Given the description of an element on the screen output the (x, y) to click on. 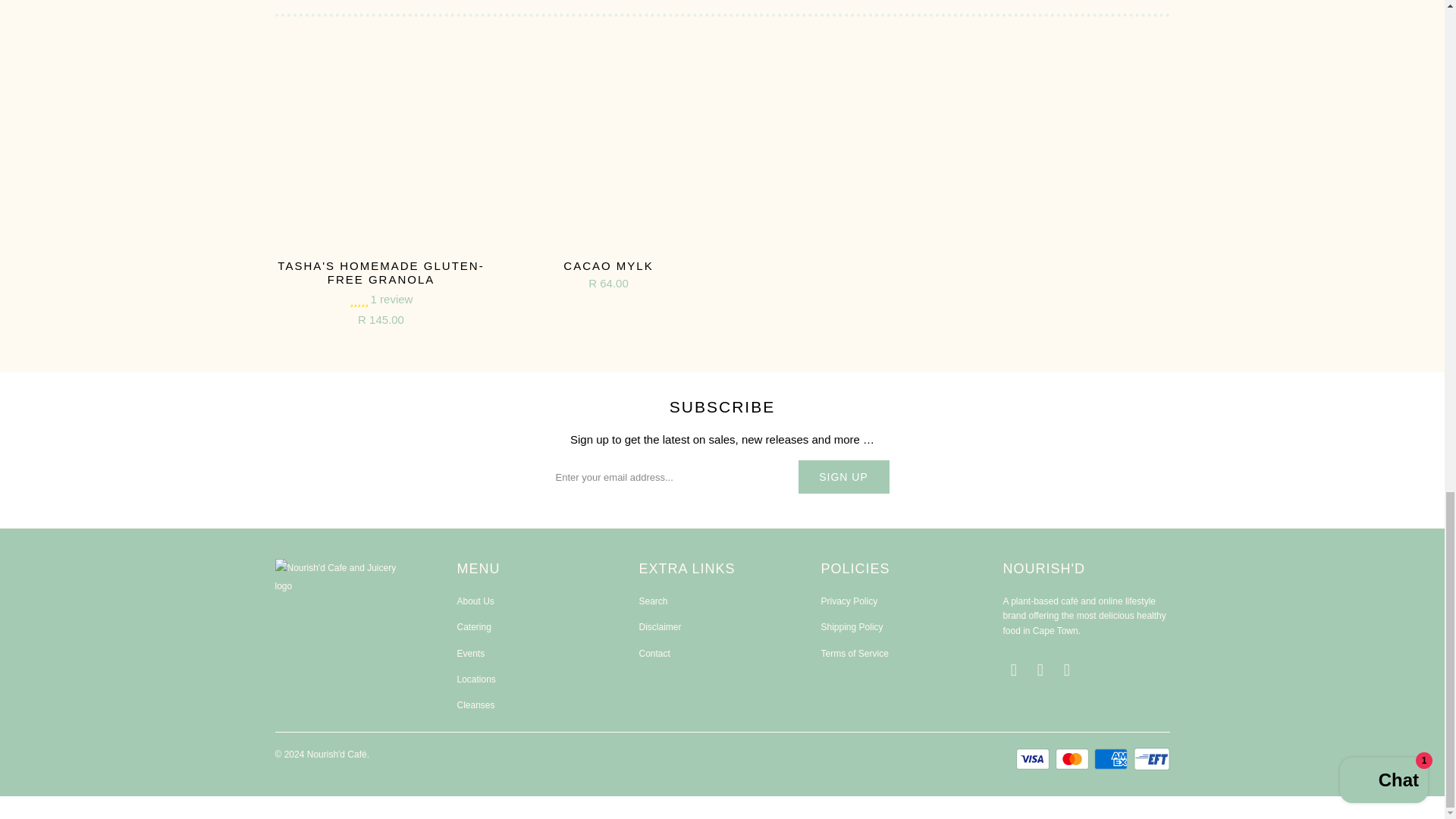
PayFast Instant EFT (1150, 758)
Visa (1034, 758)
American Express (1112, 758)
Sign Up (842, 476)
Mastercard (1073, 758)
